Given the description of an element on the screen output the (x, y) to click on. 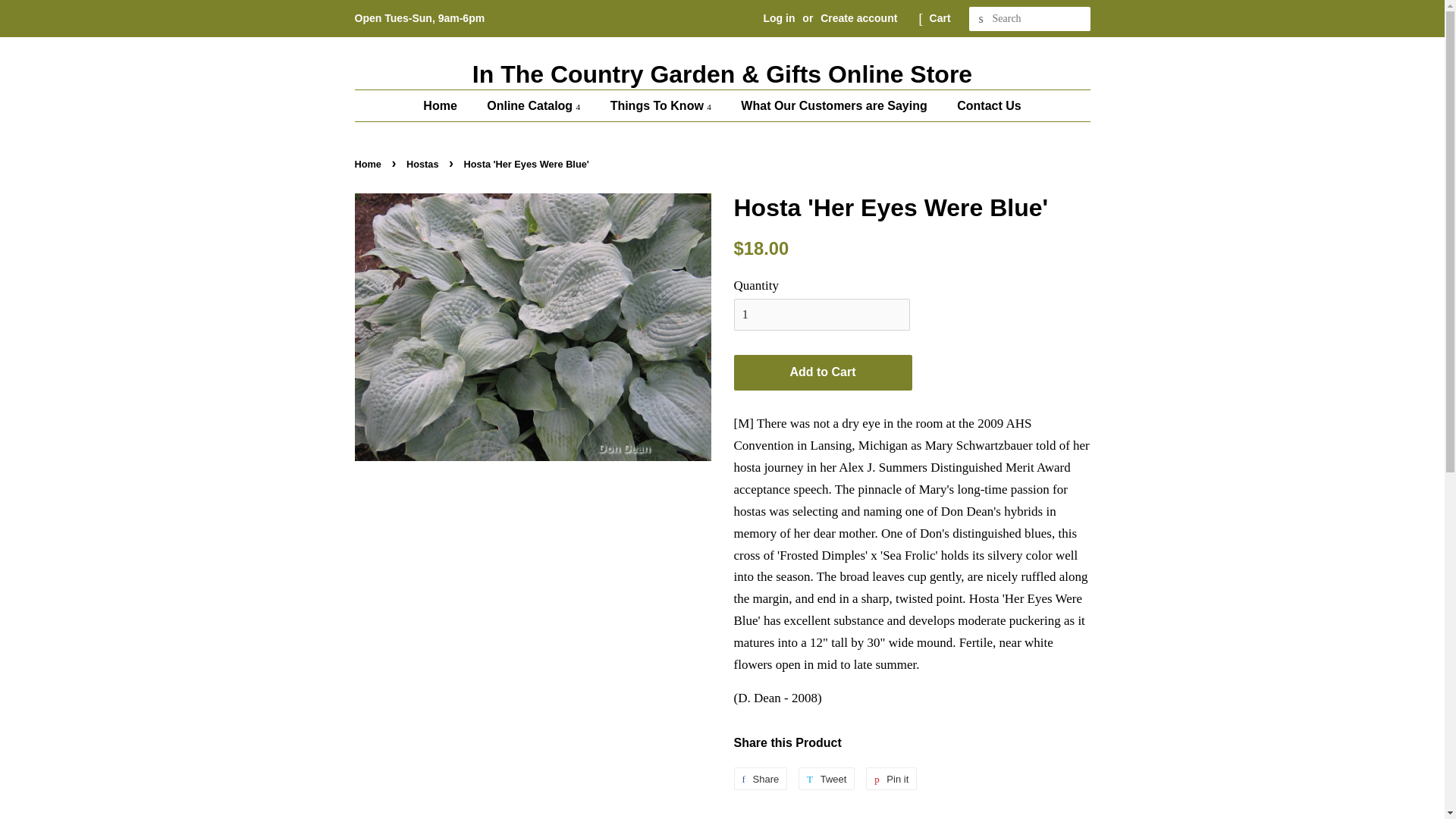
Tweet on Twitter (825, 778)
Back to the frontpage (370, 163)
Pin on Pinterest (891, 778)
Cart (940, 18)
Share on Facebook (760, 778)
1 (821, 314)
Log in (778, 18)
Search (980, 18)
Create account (858, 18)
